Given the description of an element on the screen output the (x, y) to click on. 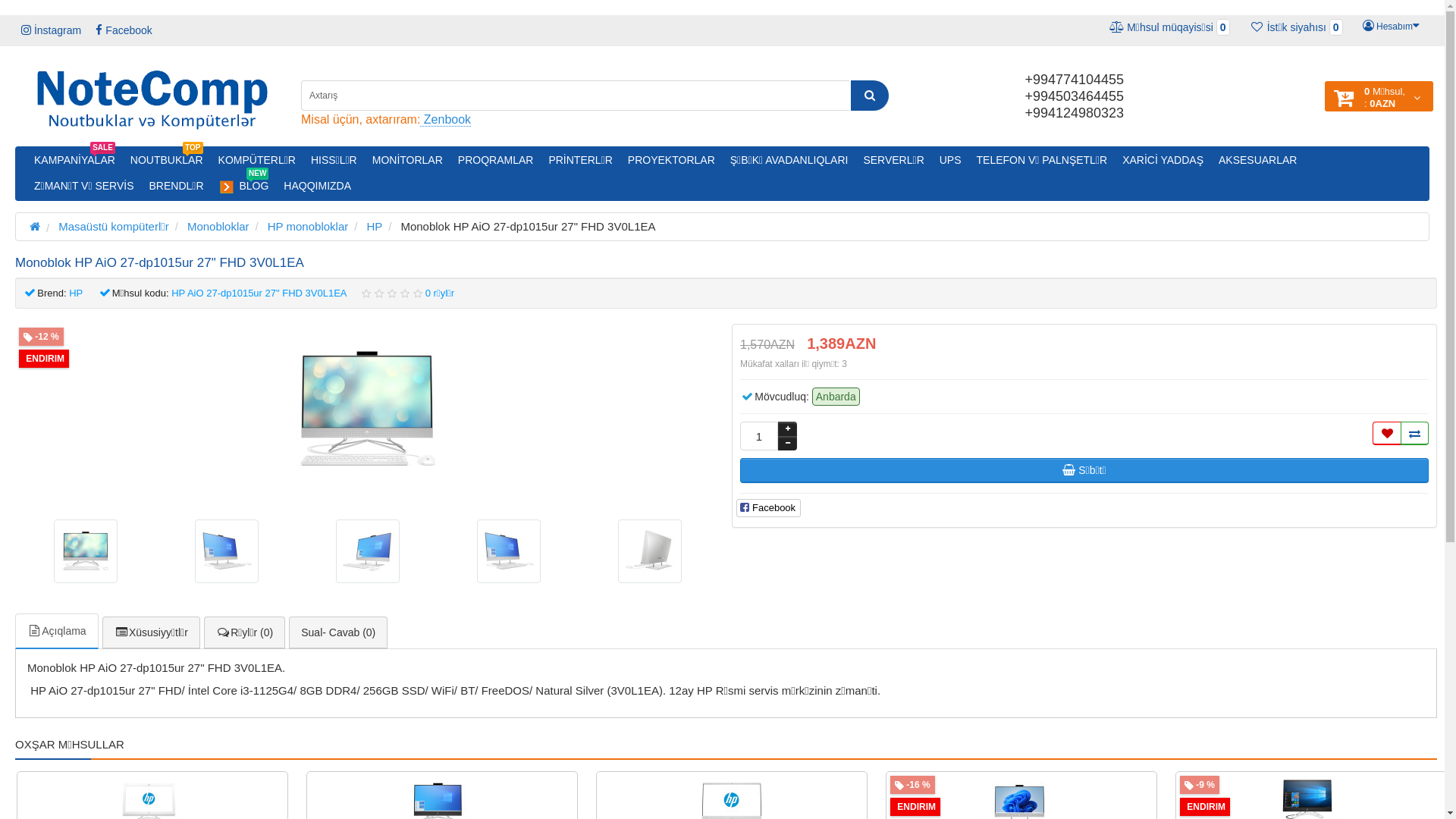
Monobloklar Element type: text (218, 225)
Monoblok HP AiO 27-dp1015ur 27" FHD 3V0L1EA Element type: hover (226, 551)
Monoblok HP AiO 27-dp1015ur 27" FHD 3V0L1EA Element type: hover (508, 551)
HP Element type: text (374, 225)
AKSESUARLAR Element type: text (1257, 159)
+994774104455 Element type: text (1073, 79)
Monoblok HP AiO 27-dp1015ur 27" FHD 3V0L1EA Element type: hover (367, 551)
PROYEKTORLAR Element type: text (671, 159)
NEW
BLOG Element type: text (243, 185)
+994124980323 Element type: text (1073, 112)
Monoblok HP AiO 27-dp1015ur 27" FHD 3V0L1EA Element type: hover (367, 409)
PROQRAMLAR Element type: text (495, 159)
UPS Element type: text (950, 159)
Monoblok HP AiO 27-dp1015ur 27" FHD 3V0L1EA Element type: hover (85, 551)
Monoblok HP AiO 27-dp1015ur 27" FHD 3V0L1EA Element type: hover (226, 551)
Facebook Element type: text (123, 29)
Monoblok HP AiO 27-dp1015ur 27" FHD 3V0L1EA Element type: hover (508, 551)
Zenbook Element type: text (445, 119)
HP Element type: text (75, 292)
+994503464455 Element type: text (1073, 95)
Monoblok HP AiO 27-dp1015ur 27" FHD 3V0L1EA Element type: hover (649, 551)
TOP
NOUTBUKLAR Element type: text (166, 159)
Monoblok HP AiO 27-dp1015ur 27" FHD 3V0L1EA Element type: hover (367, 409)
Monoblok HP AiO 27-dp1015ur 27" FHD 3V0L1EA Element type: hover (649, 551)
HP monobloklar Element type: text (307, 225)
Monoblok HP AiO 27-dp1015ur 27" FHD 3V0L1EA Element type: hover (367, 551)
Monoblok HP AiO 27-dp1015ur 27" FHD 3V0L1EA Element type: hover (85, 551)
HAQQIMIZDA Element type: text (317, 185)
Sual- Cavab (0) Element type: text (337, 632)
